Given the description of an element on the screen output the (x, y) to click on. 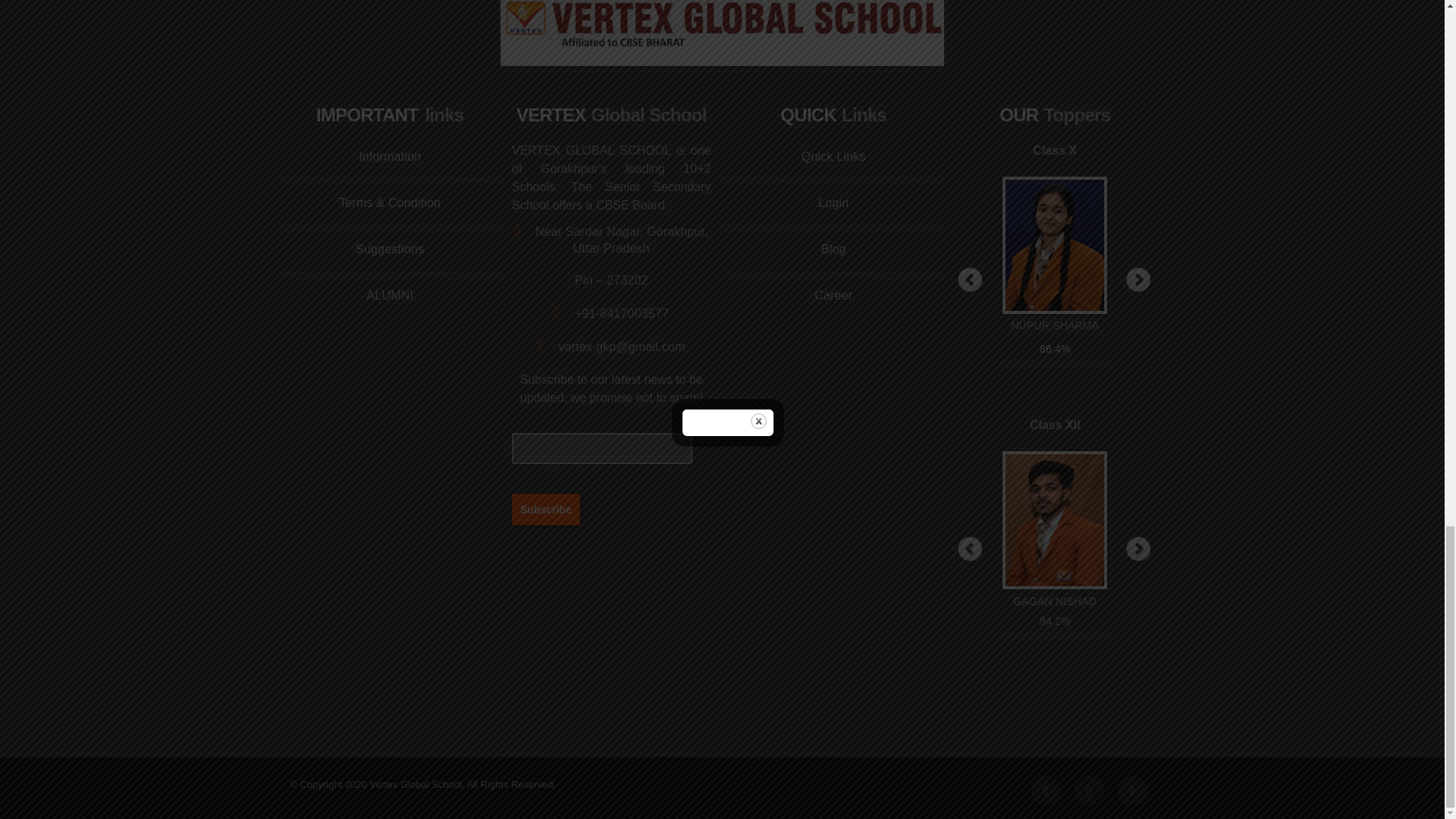
Subscribe (545, 508)
